Given the description of an element on the screen output the (x, y) to click on. 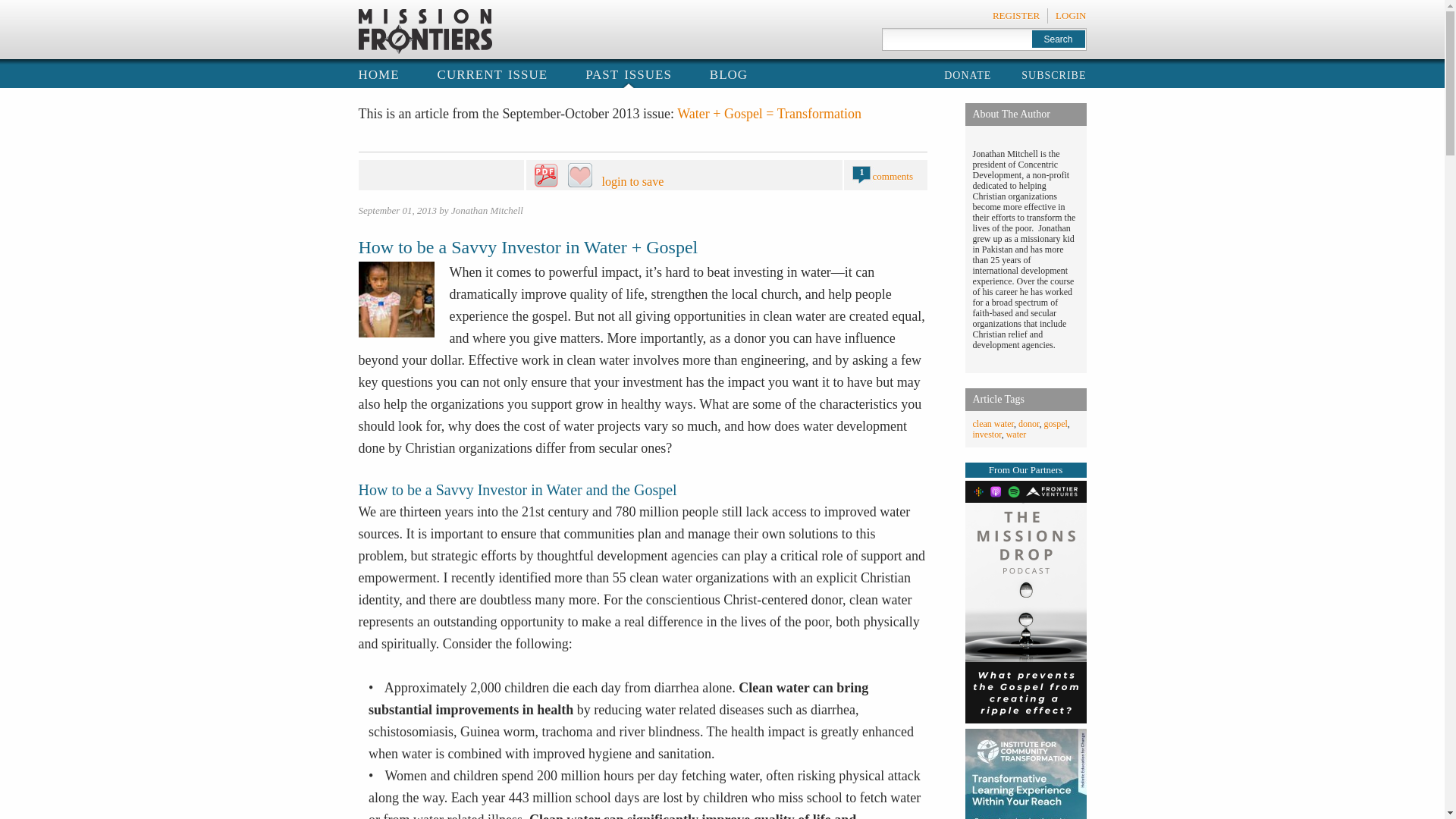
LOGIN (1070, 15)
investor (986, 434)
comments (892, 175)
home (378, 72)
REGISTER (1015, 15)
gospel (1055, 423)
Search (1057, 38)
clean water (992, 423)
clean water (992, 423)
blog (729, 72)
